Given the description of an element on the screen output the (x, y) to click on. 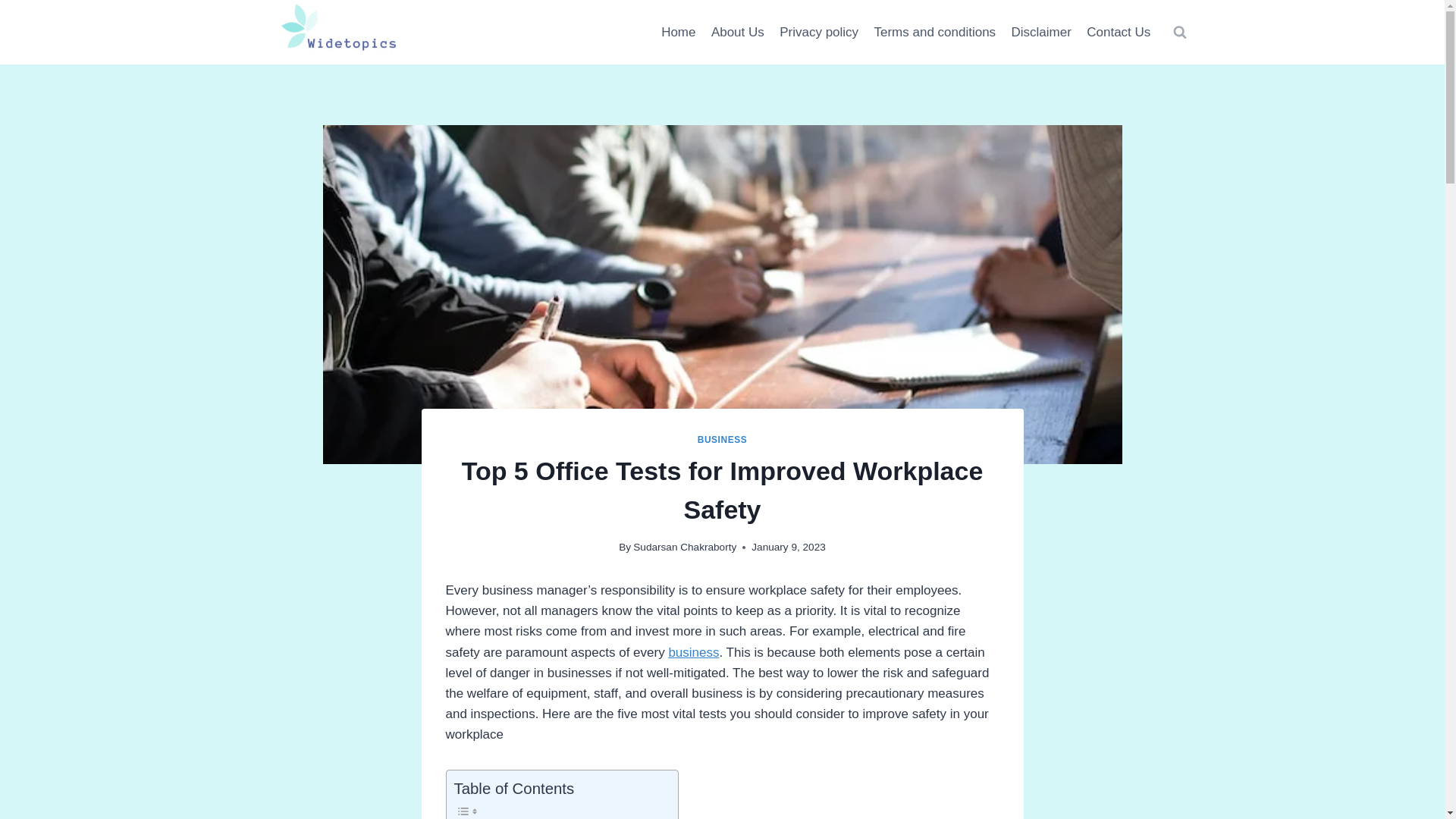
Privacy policy (818, 32)
Disclaimer (1040, 32)
Home (678, 32)
BUSINESS (722, 439)
business (693, 652)
Terms and conditions (934, 32)
About Us (737, 32)
Contact Us (1117, 32)
Sudarsan Chakraborty (684, 546)
